Given the description of an element on the screen output the (x, y) to click on. 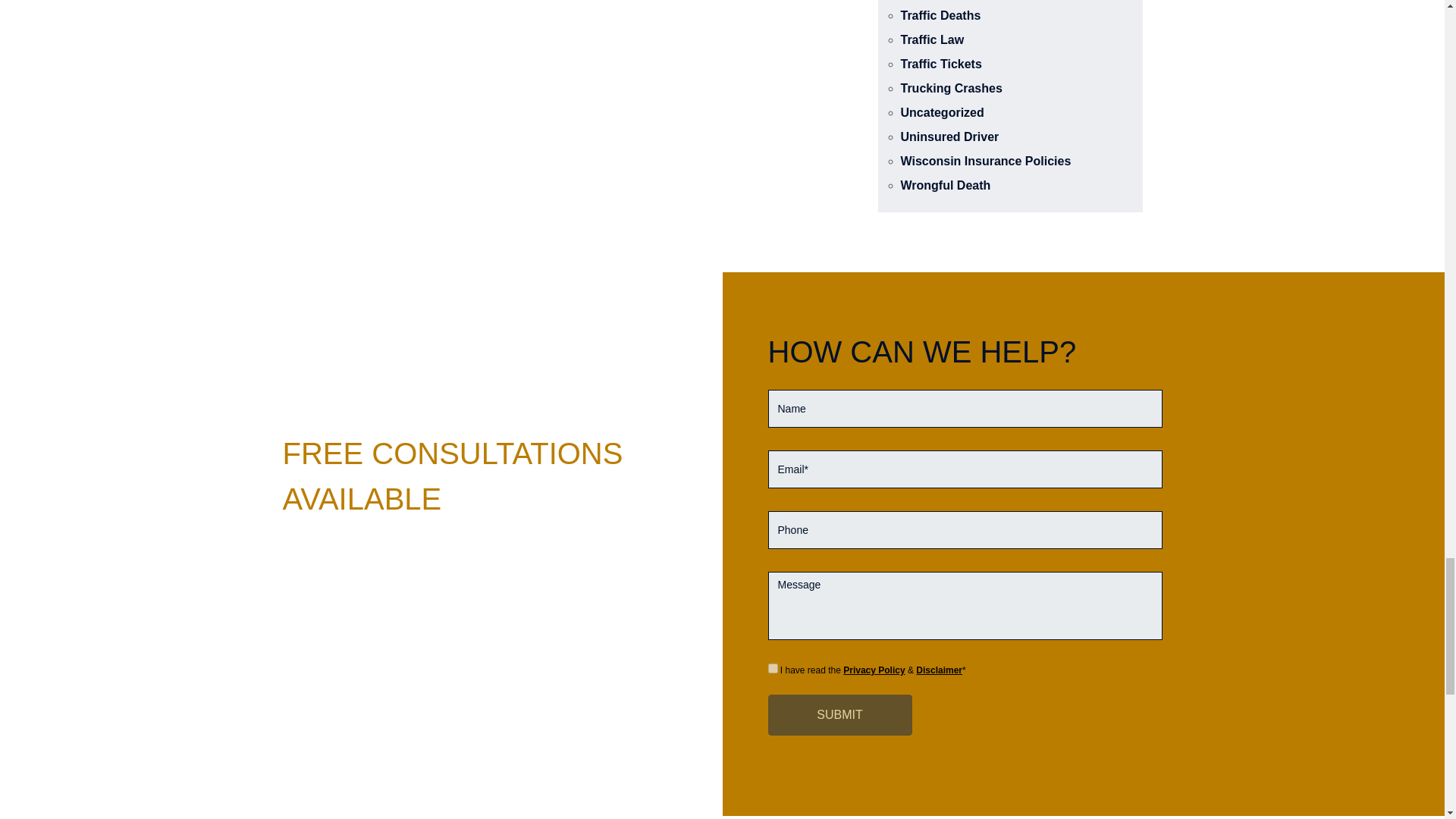
submit (839, 714)
Phone (964, 529)
I have read (772, 668)
